Given the description of an element on the screen output the (x, y) to click on. 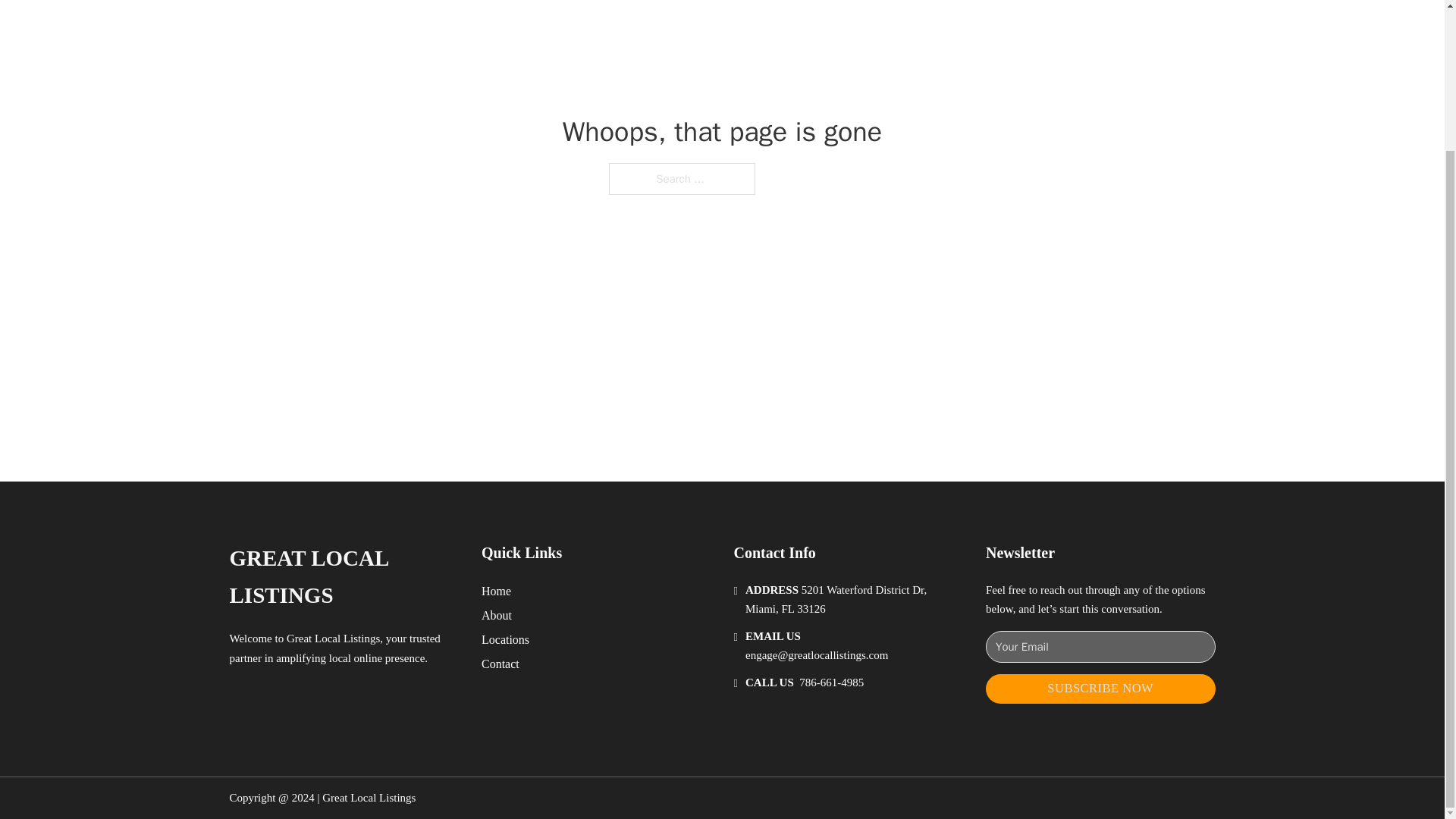
Locations (505, 639)
SUBSCRIBE NOW (1100, 688)
Home (496, 590)
About (496, 615)
Contact (500, 663)
GREAT LOCAL LISTINGS (343, 577)
